Given the description of an element on the screen output the (x, y) to click on. 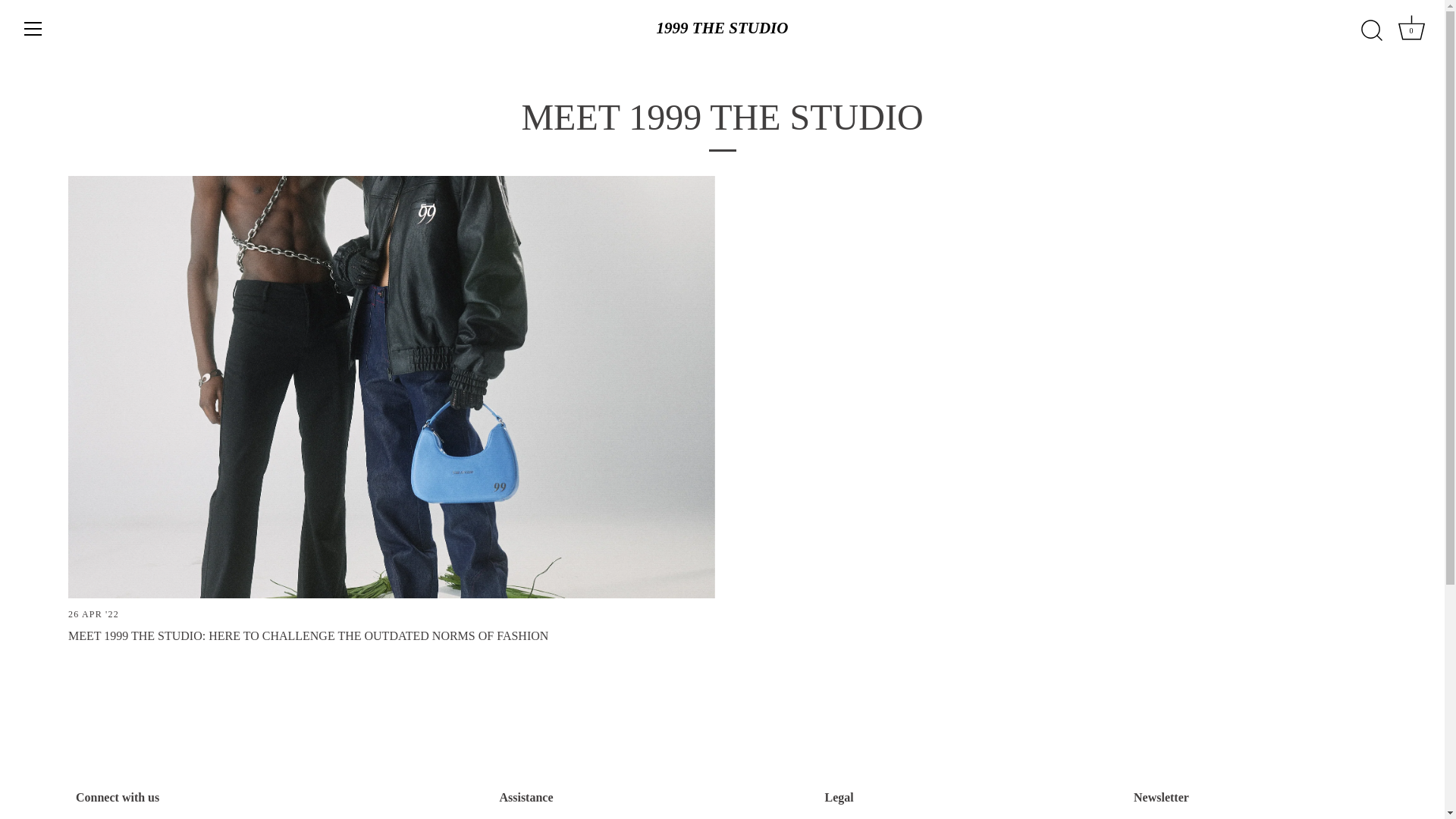
1999 THE STUDIO Element type: text (722, 28)
Cart
0 Element type: text (1410, 30)
